Given the description of an element on the screen output the (x, y) to click on. 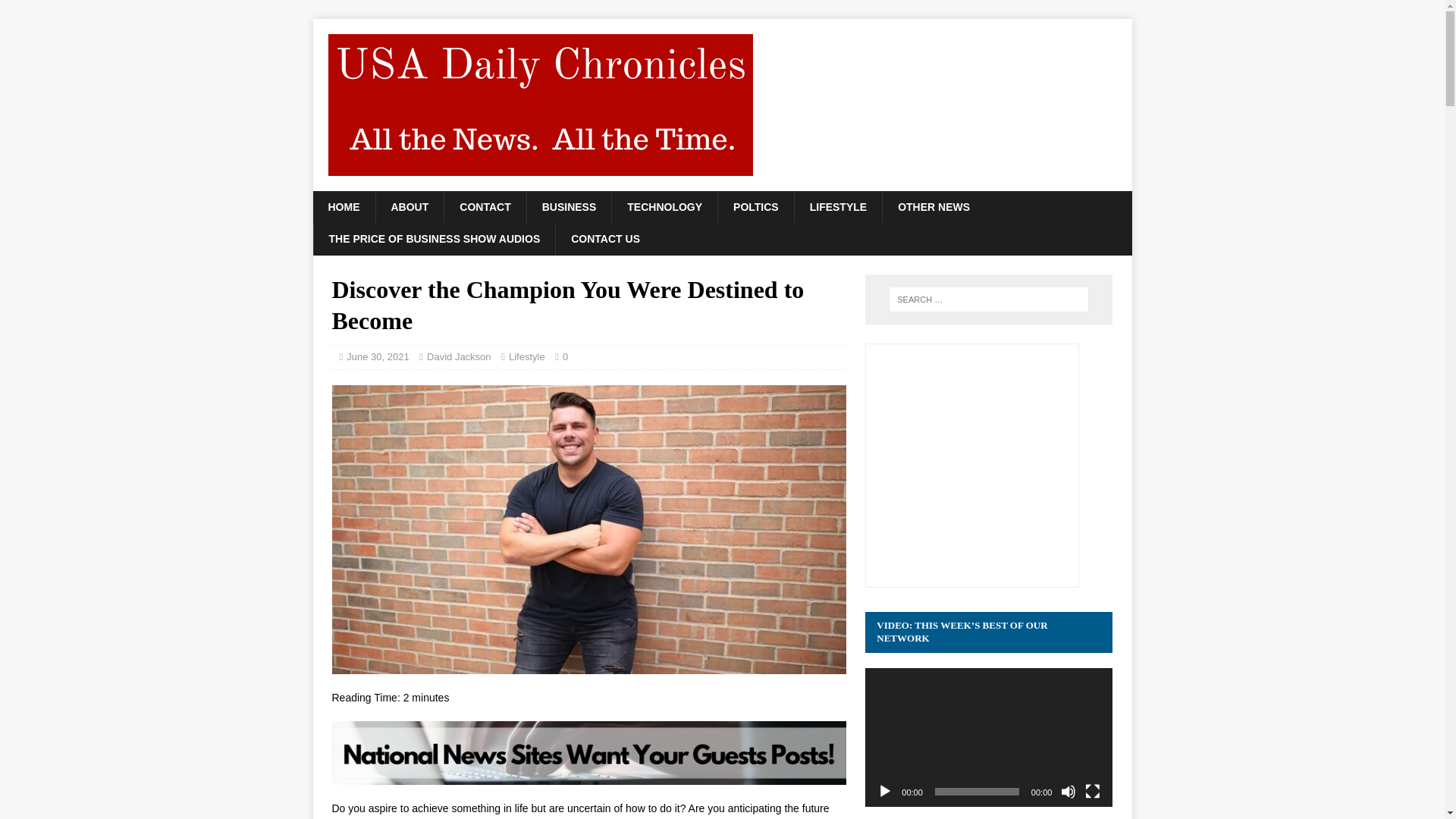
POLTICS (755, 206)
THE PRICE OF BUSINESS SHOW AUDIOS (433, 238)
TECHNOLOGY (664, 206)
BUSINESS (568, 206)
Lifestyle (526, 356)
June 30, 2021 (377, 356)
David Jackson (459, 356)
Fullscreen (1092, 791)
CONTACT (484, 206)
OTHER NEWS (933, 206)
Play (884, 791)
ABOUT (409, 206)
Mute (1068, 791)
CONTACT US (604, 238)
HOME (343, 206)
